Given the description of an element on the screen output the (x, y) to click on. 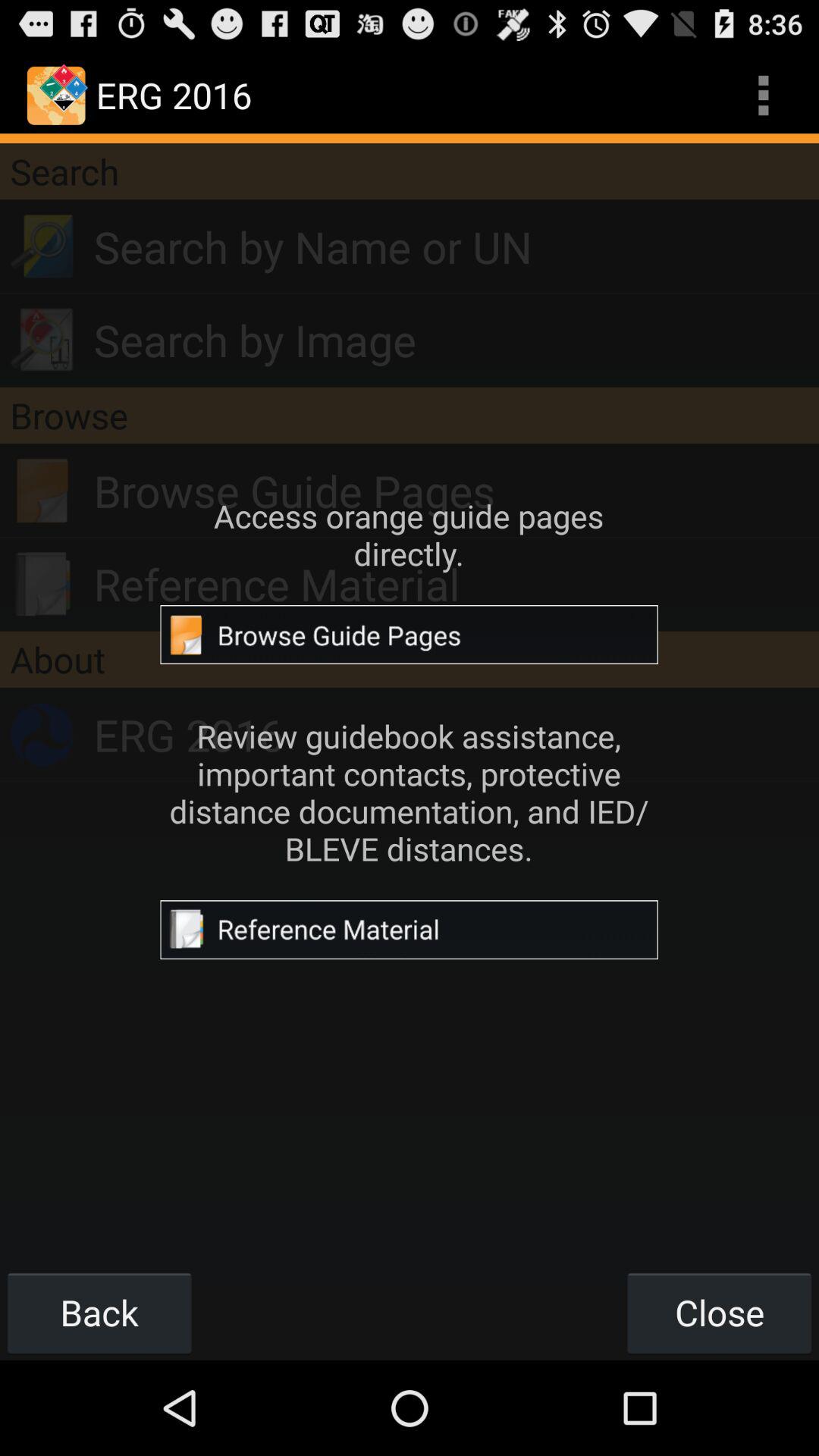
click icon to the right of back (719, 1312)
